Given the description of an element on the screen output the (x, y) to click on. 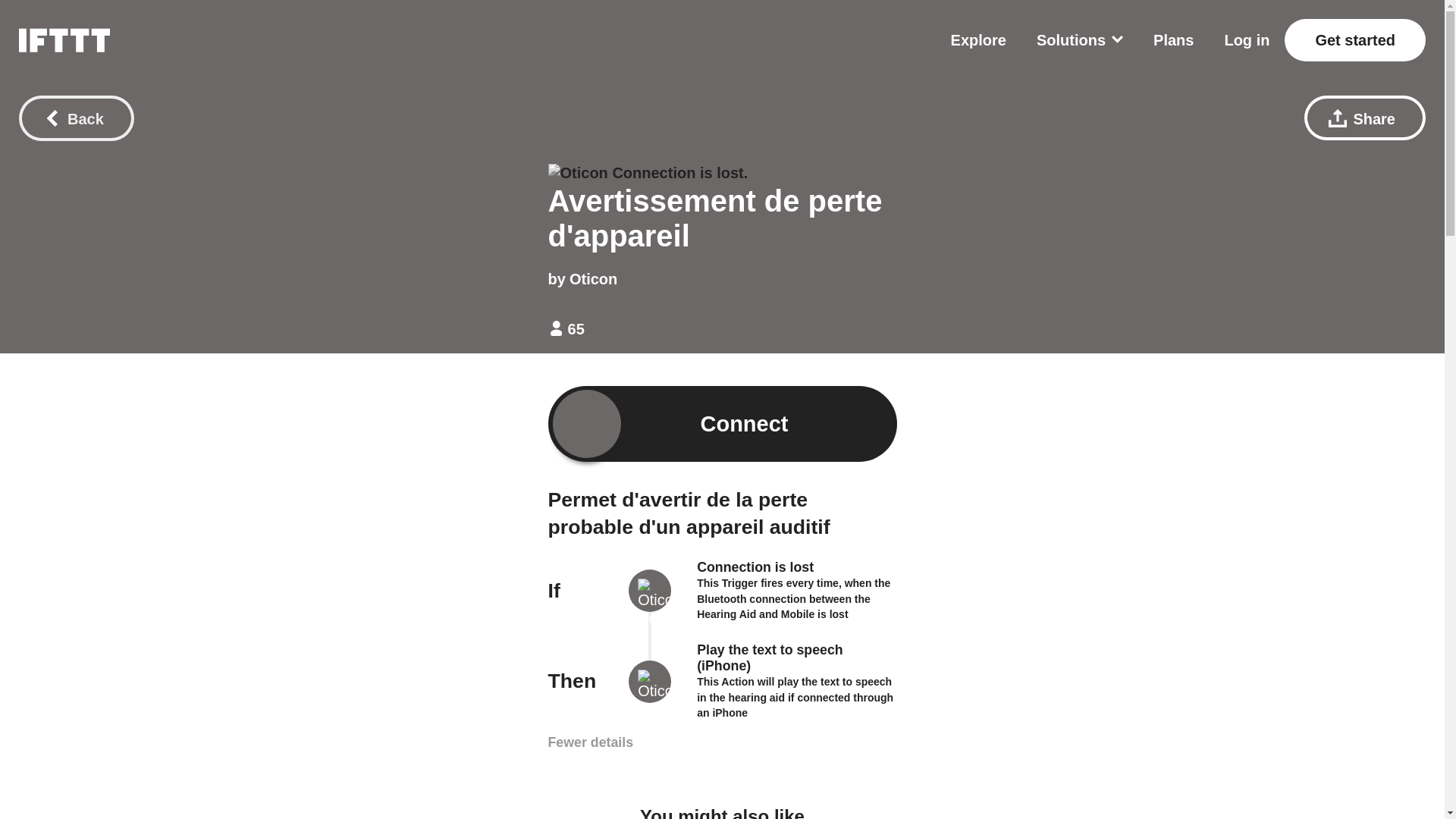
Connection is lost (755, 566)
Oticon (593, 279)
Explore (978, 39)
Plans (1173, 39)
Get started (1354, 39)
Home (64, 40)
Share (1364, 117)
Connection is lost (755, 566)
Back (75, 117)
Plans (1173, 39)
Oticon Connection is lost. (647, 172)
Learn more: Oticon - Connection is lost (793, 598)
Get started (1354, 39)
